Given the description of an element on the screen output the (x, y) to click on. 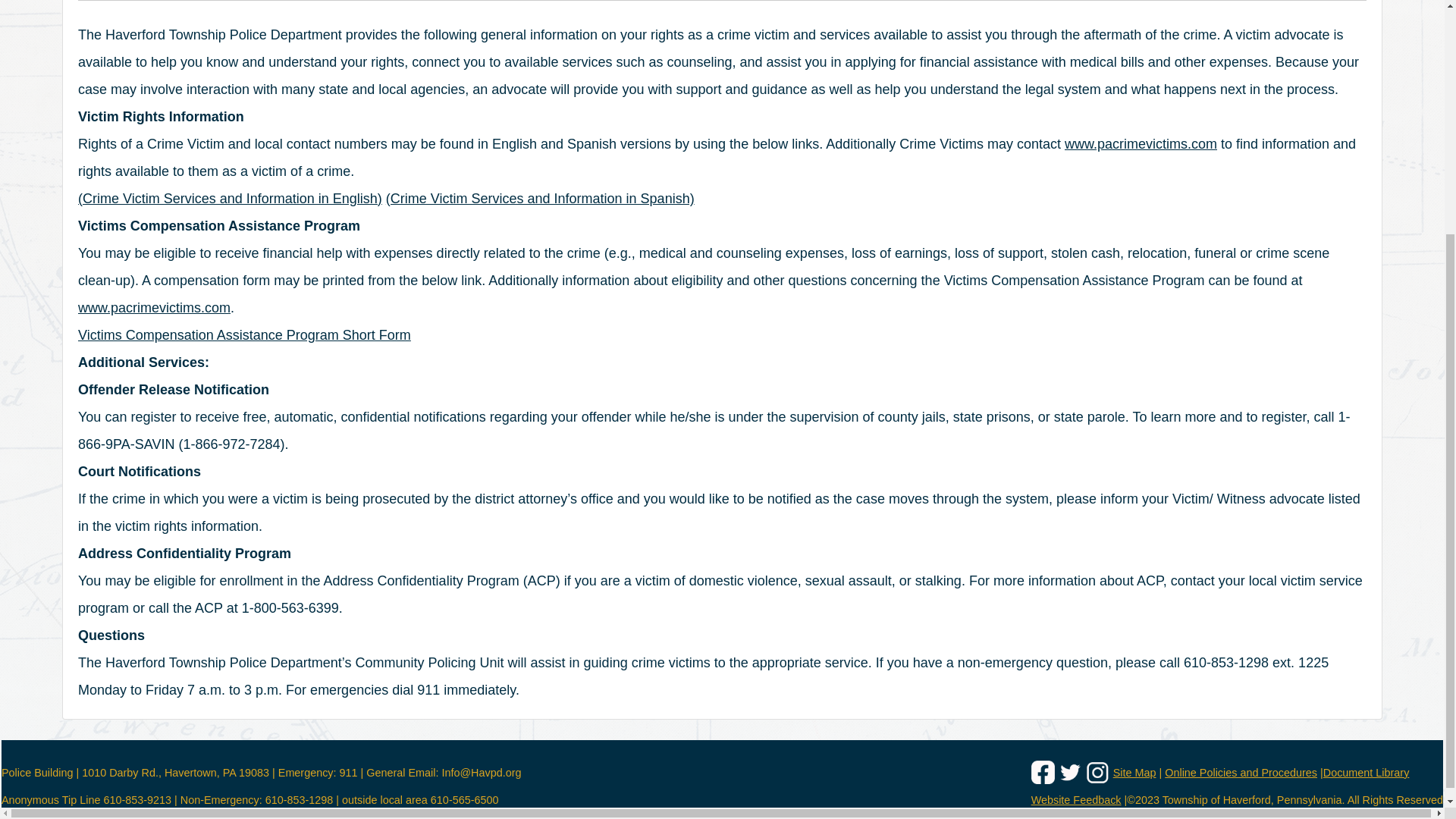
Crime Victim Services and Information in Spanish (539, 198)
www.pacrimevictims.com (154, 307)
Crime Victim Services and Information in English (229, 198)
Victims Compensation Assistance Program Short Form (244, 335)
